Given the description of an element on the screen output the (x, y) to click on. 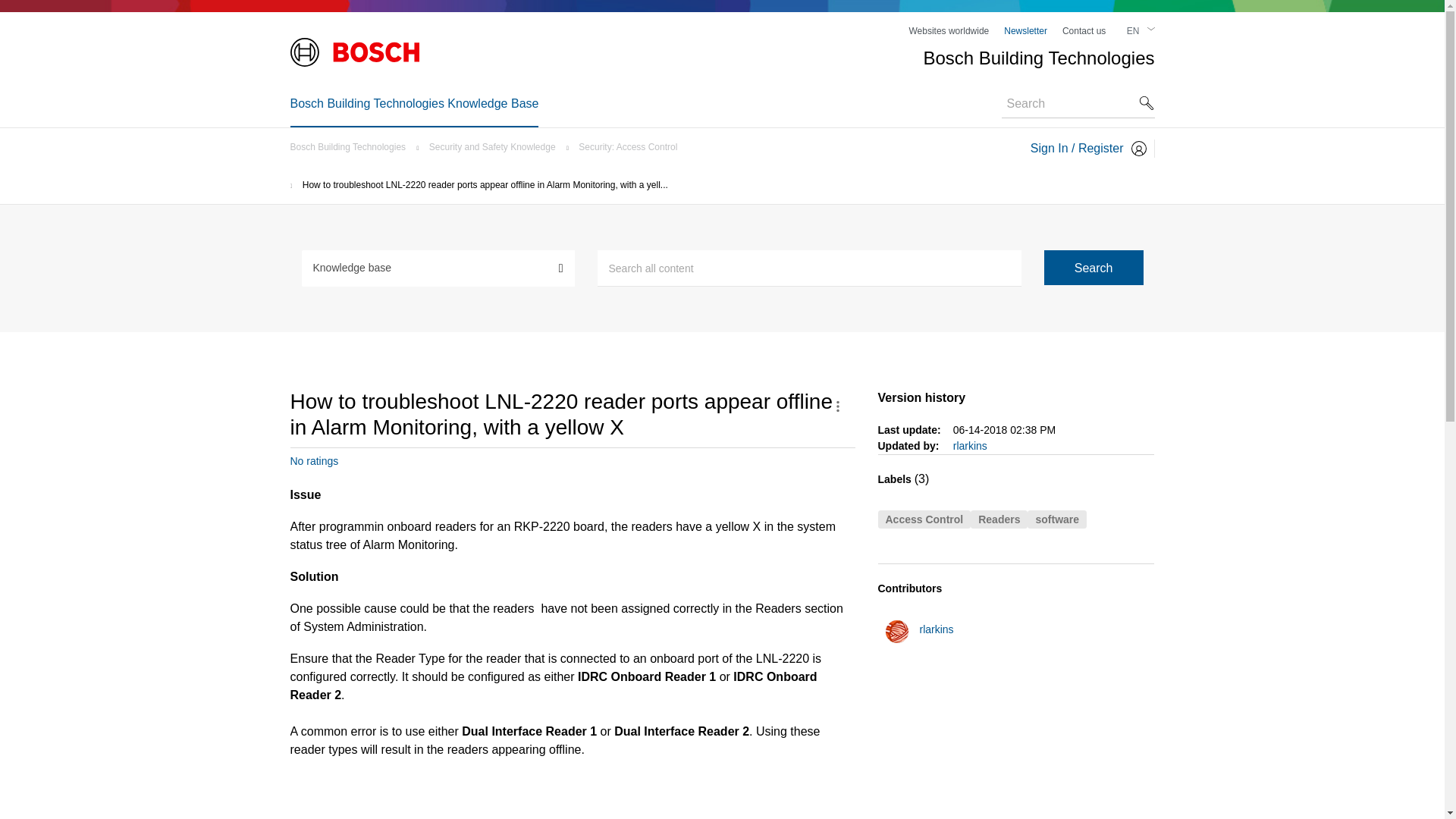
Icon arrow-down-thin (1150, 28)
Search (1092, 267)
Bosch Building Technologies (351, 146)
Search (1092, 267)
Security and Safety Knowledge (496, 146)
Search Granularity (438, 267)
Show option menu (837, 406)
Contact us (1083, 30)
Websites worldwide (948, 30)
Bosch Building Technologies Knowledge Base (413, 103)
Security: Access Control (631, 146)
Search (809, 268)
Newsletter (1025, 30)
rlarkins (896, 630)
